Given the description of an element on the screen output the (x, y) to click on. 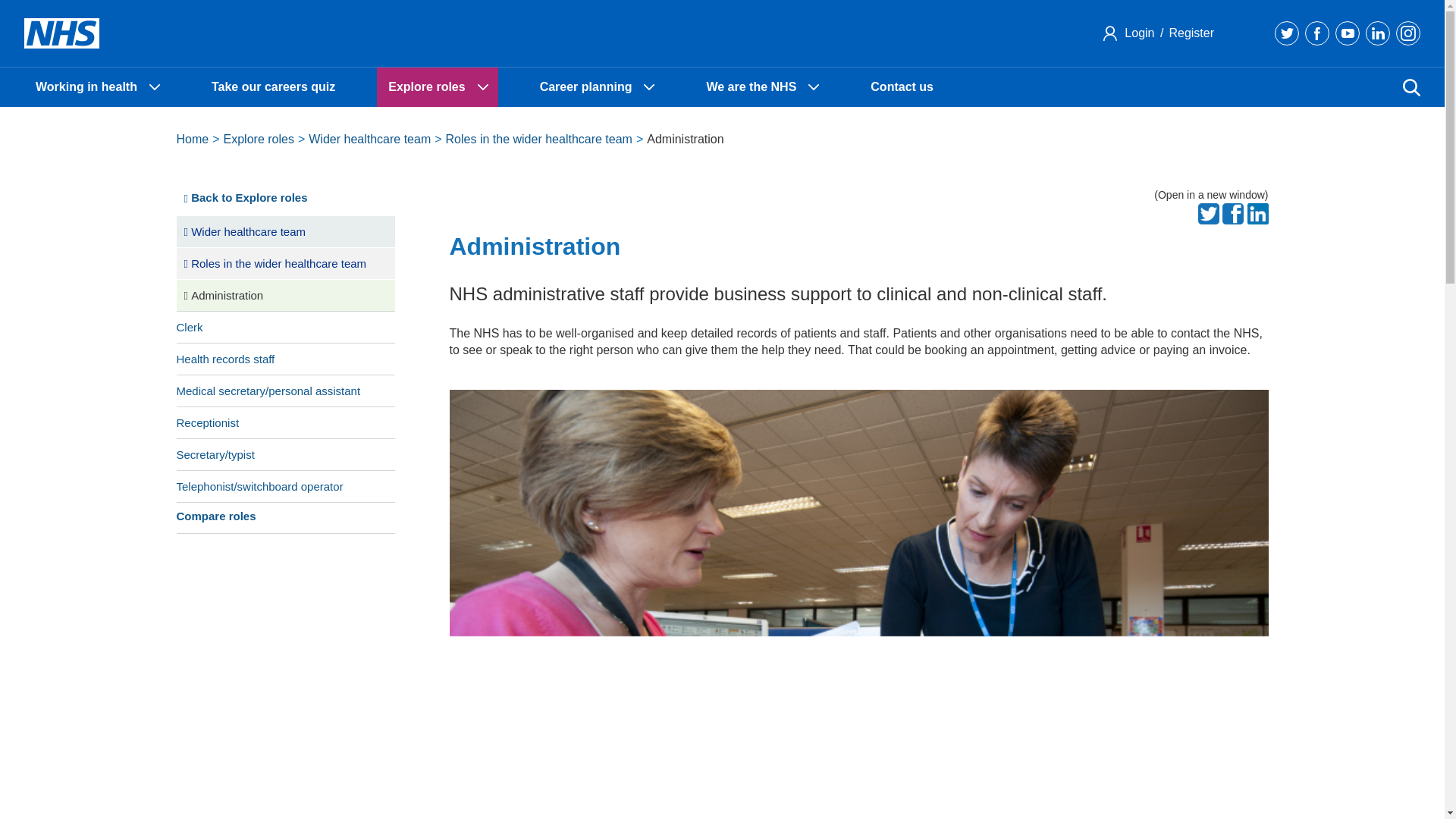
Find Health Careers on youtube (1347, 33)
Register (1188, 32)
Find your health careers by answering some simple questions (273, 87)
Find Health Careers on facebook (1316, 33)
Take our careers quiz (273, 87)
NHS Logo Home (61, 33)
Working in health (97, 87)
Working in health menu (154, 87)
Find Health Careers on twitter (1286, 33)
user icon (1109, 32)
Find Health Careers on linkedin (1377, 33)
NHS logo. Return to home. (61, 33)
Login (1139, 32)
Explore roles menu (482, 87)
